Given the description of an element on the screen output the (x, y) to click on. 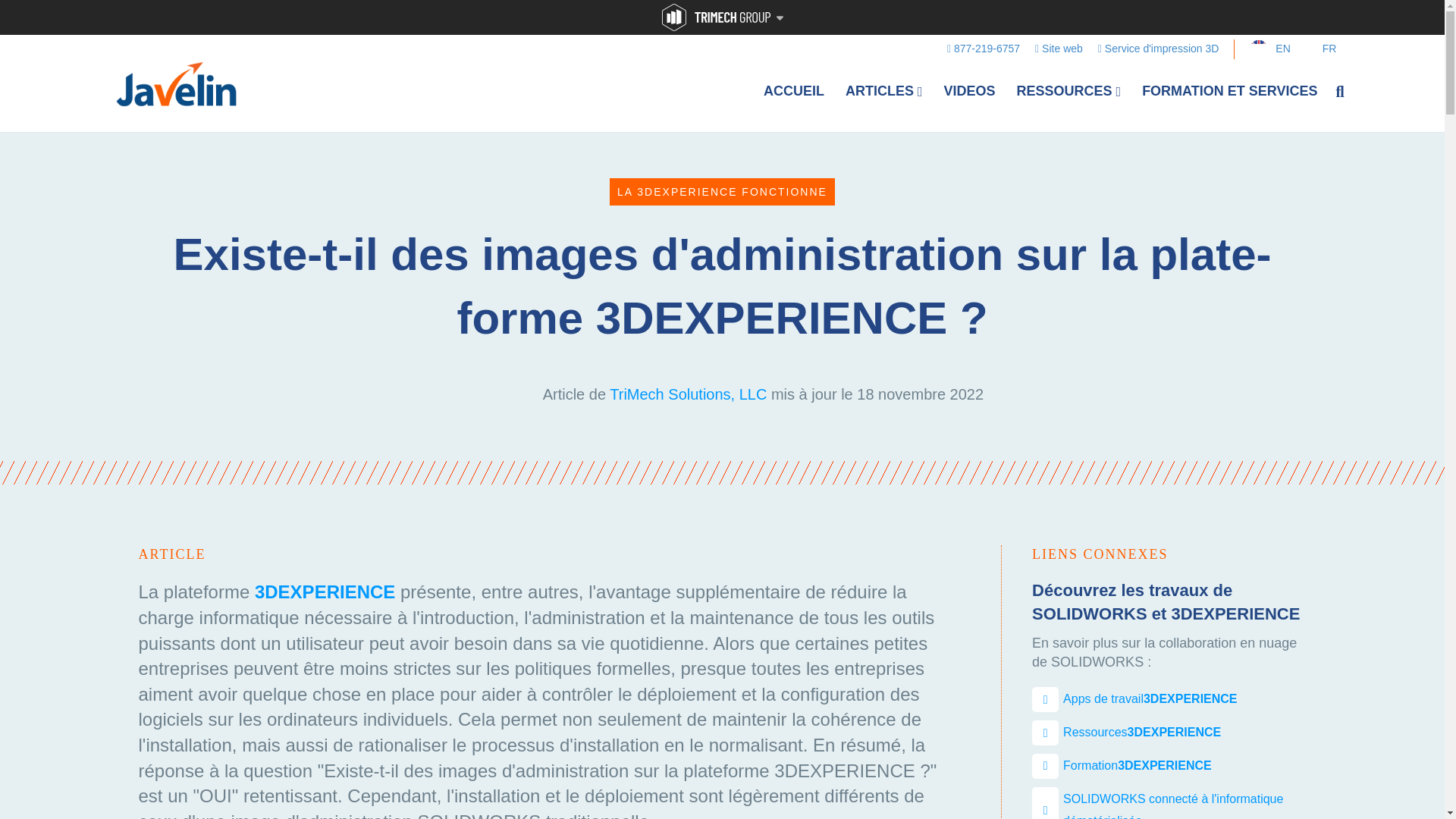
Site web (1058, 48)
EN (1261, 48)
English (1261, 48)
Service d'impression 3D (1158, 48)
FR (1312, 48)
ACCUEIL (793, 91)
ARTICLES (883, 91)
877-219-6757 (983, 48)
